Given the description of an element on the screen output the (x, y) to click on. 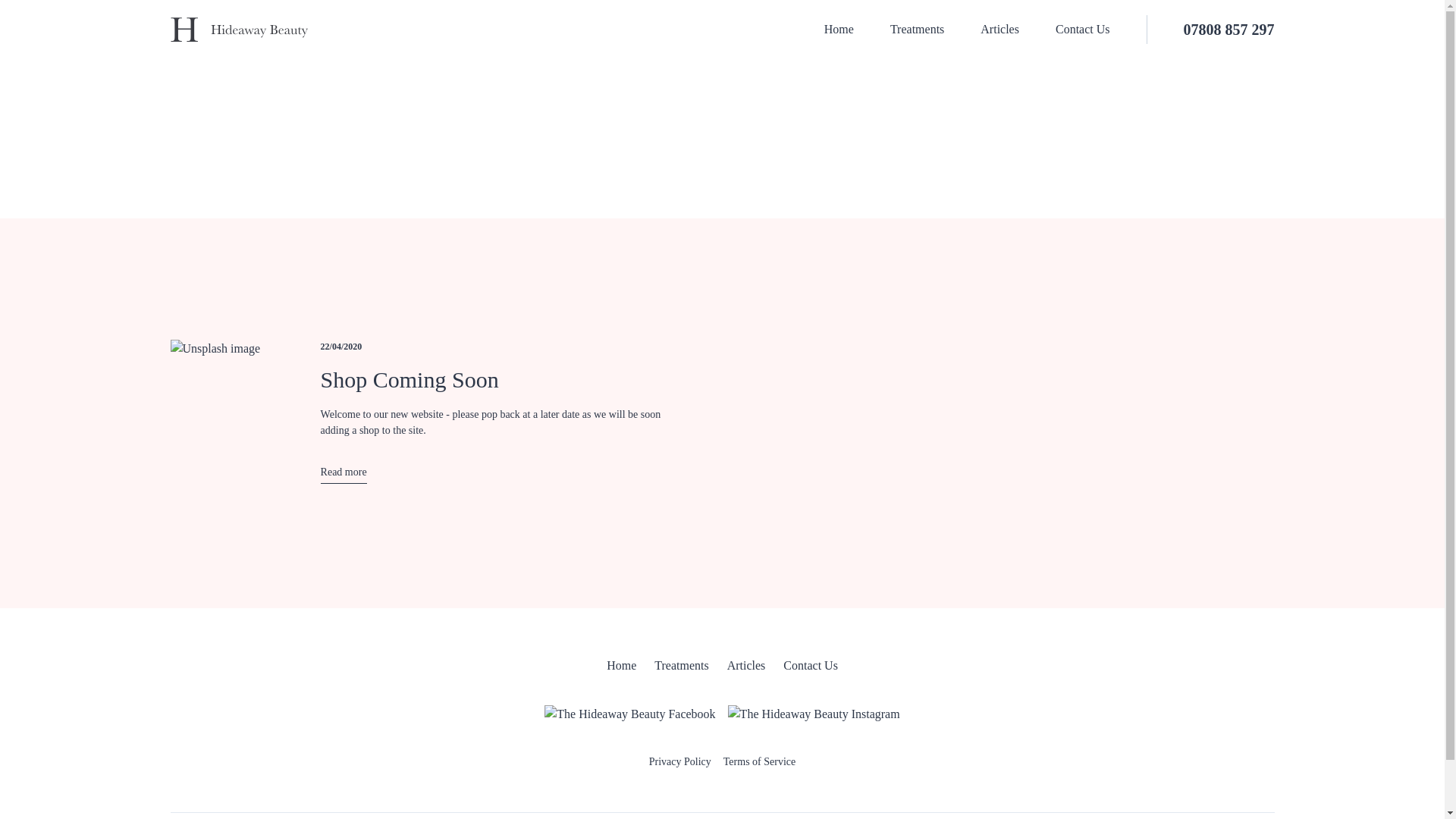
The Hideaway Beauty (238, 29)
The Hideaway Beauty Instagram (813, 714)
Read our privacy policy (680, 763)
Read our terms of service (758, 763)
Treatments (680, 667)
Contact us on 07808 857 297 (1211, 29)
Terms of Service (758, 763)
07808 857 297 (1211, 29)
The Hideaway Beauty Facebook (629, 714)
Read article: Shop Coming Soon (343, 474)
